Given the description of an element on the screen output the (x, y) to click on. 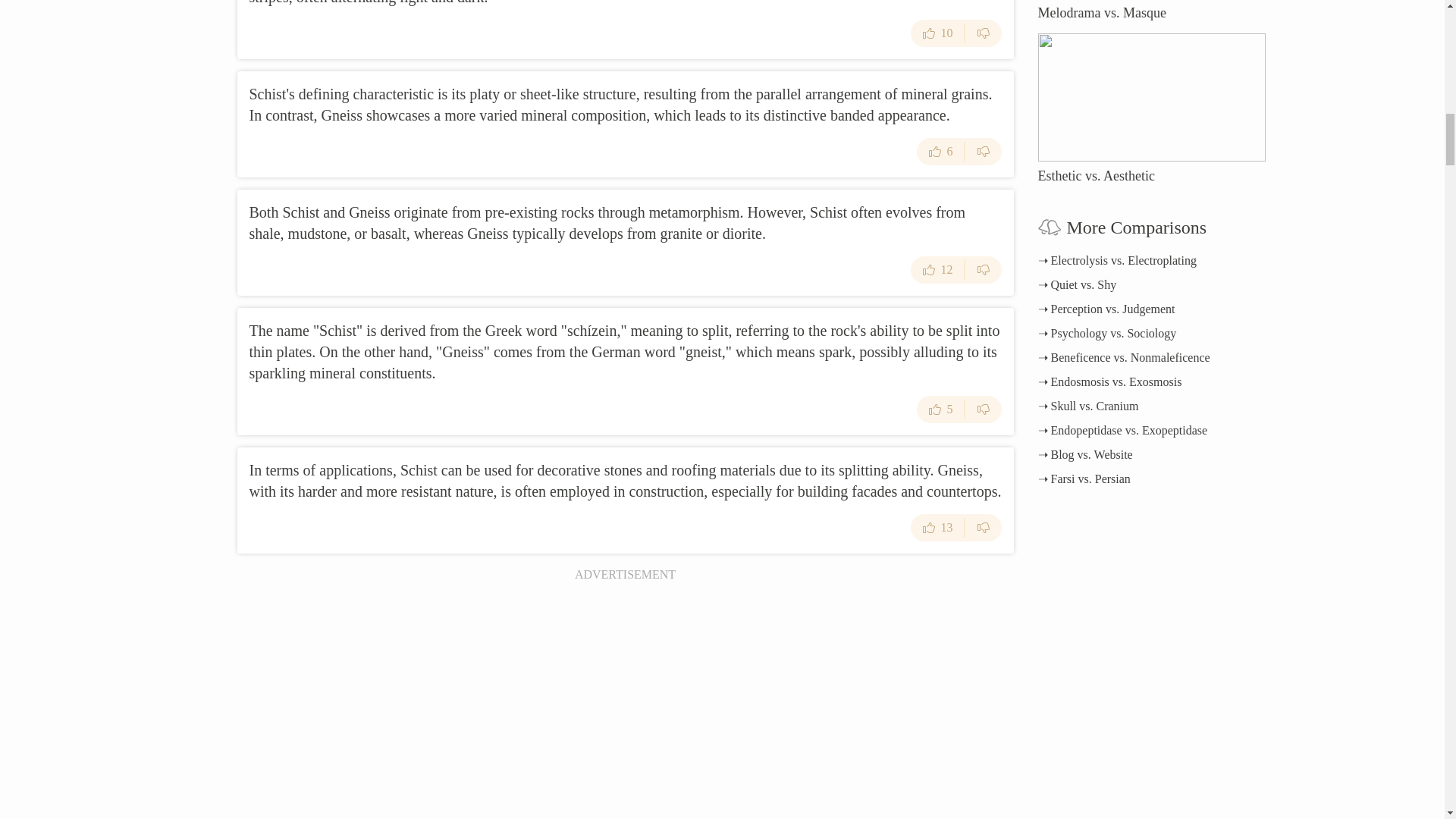
5 (939, 409)
6 (939, 151)
12 (936, 269)
10 (936, 32)
13 (936, 527)
